Given the description of an element on the screen output the (x, y) to click on. 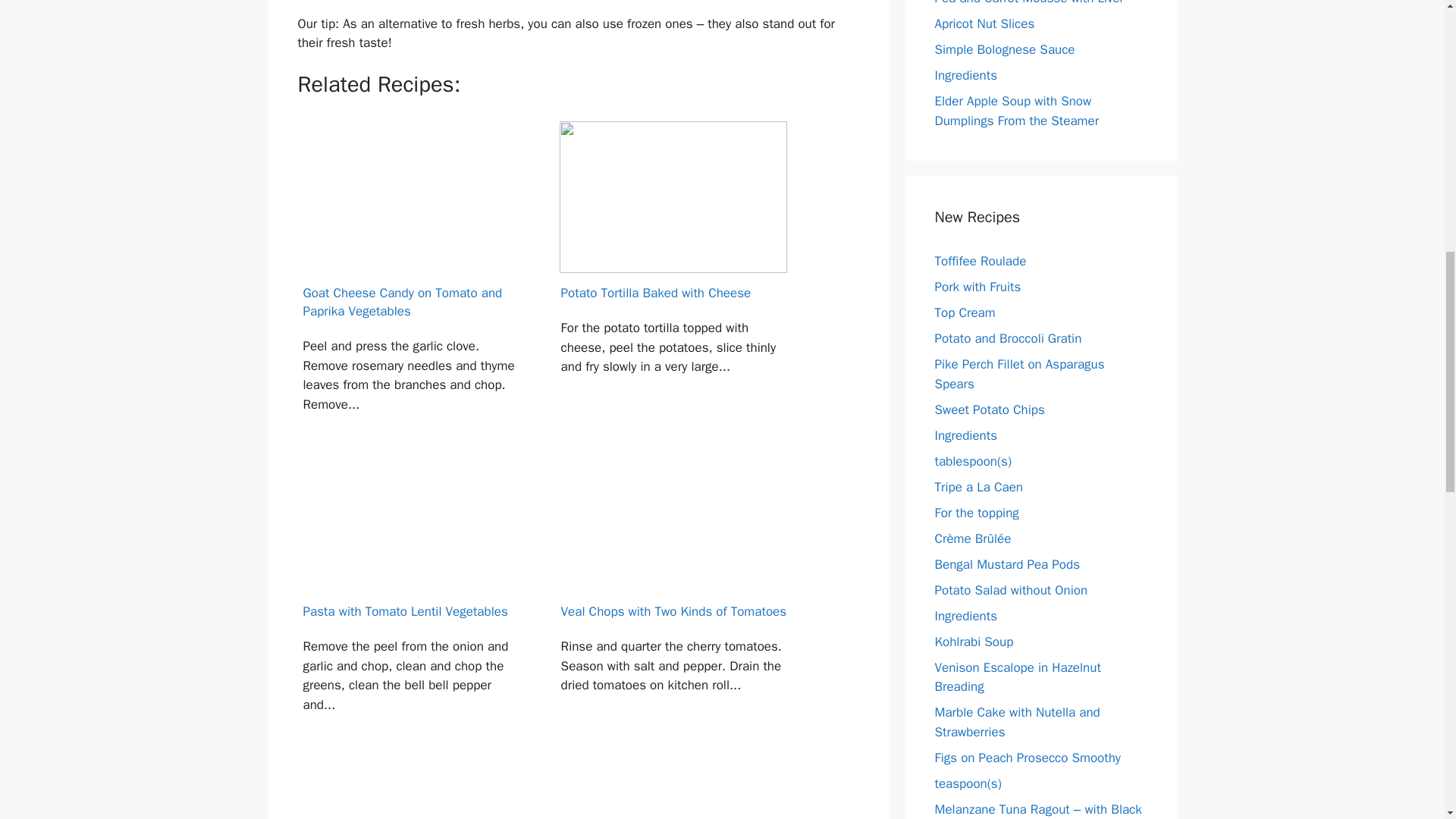
Toffifee Roulade (980, 261)
Veal Chops Pizzaiola (414, 786)
Ingredients (965, 75)
Apricot Nut Slices (983, 23)
Vegetable Strudel with Red Bell Pepper Sauce (673, 786)
Pea and Carrot Mousse with Liver (1029, 2)
Elder Apple Soup with Snow Dumplings From the Steamer (1016, 110)
Simple Bolognese Sauce (1004, 49)
